Given the description of an element on the screen output the (x, y) to click on. 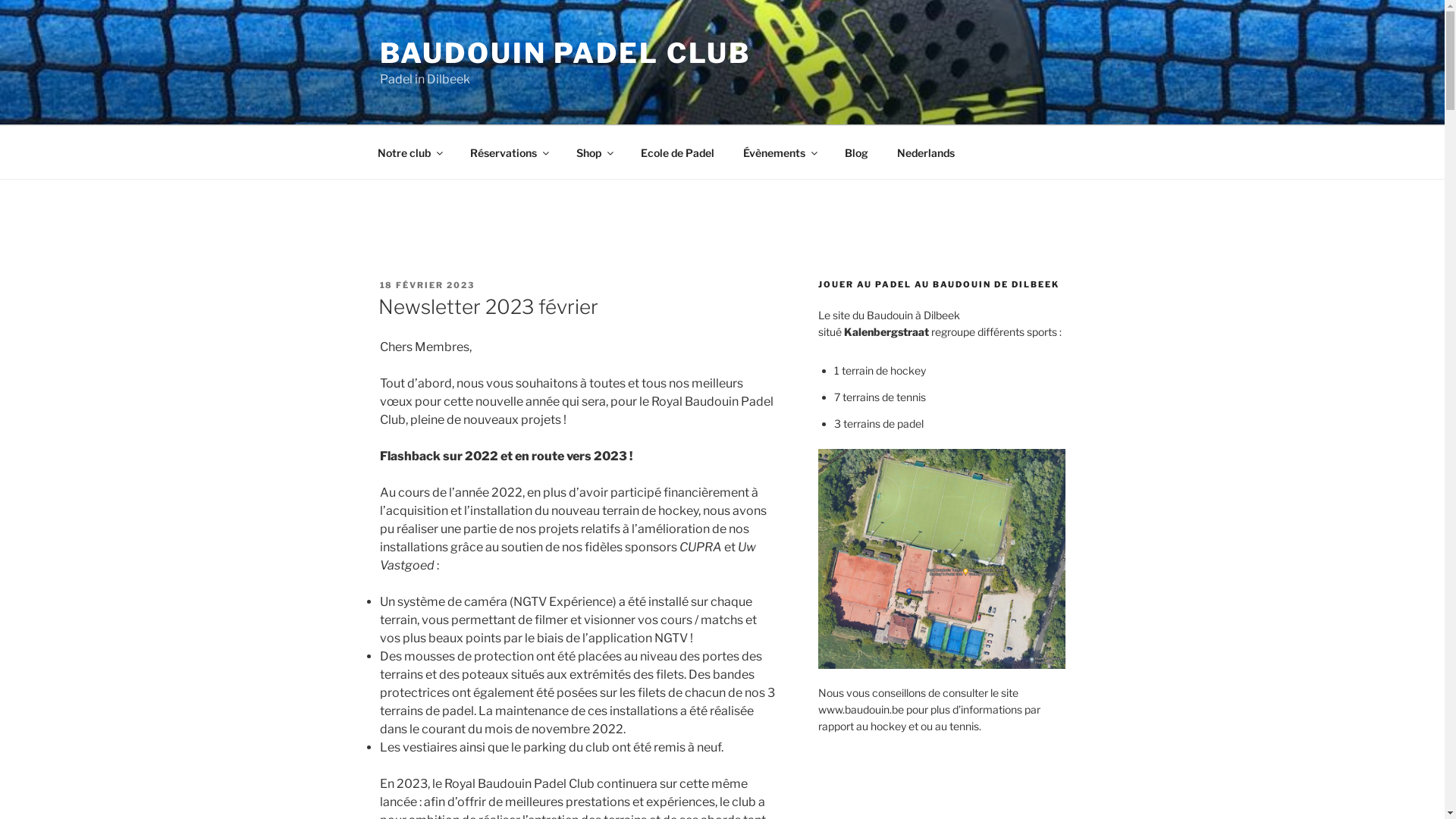
Ecole de Padel Element type: text (677, 151)
Notre club Element type: text (409, 151)
Blog Element type: text (856, 151)
BAUDOUIN PADEL CLUB Element type: text (564, 52)
Shop Element type: text (593, 151)
Nederlands Element type: text (926, 151)
